Given the description of an element on the screen output the (x, y) to click on. 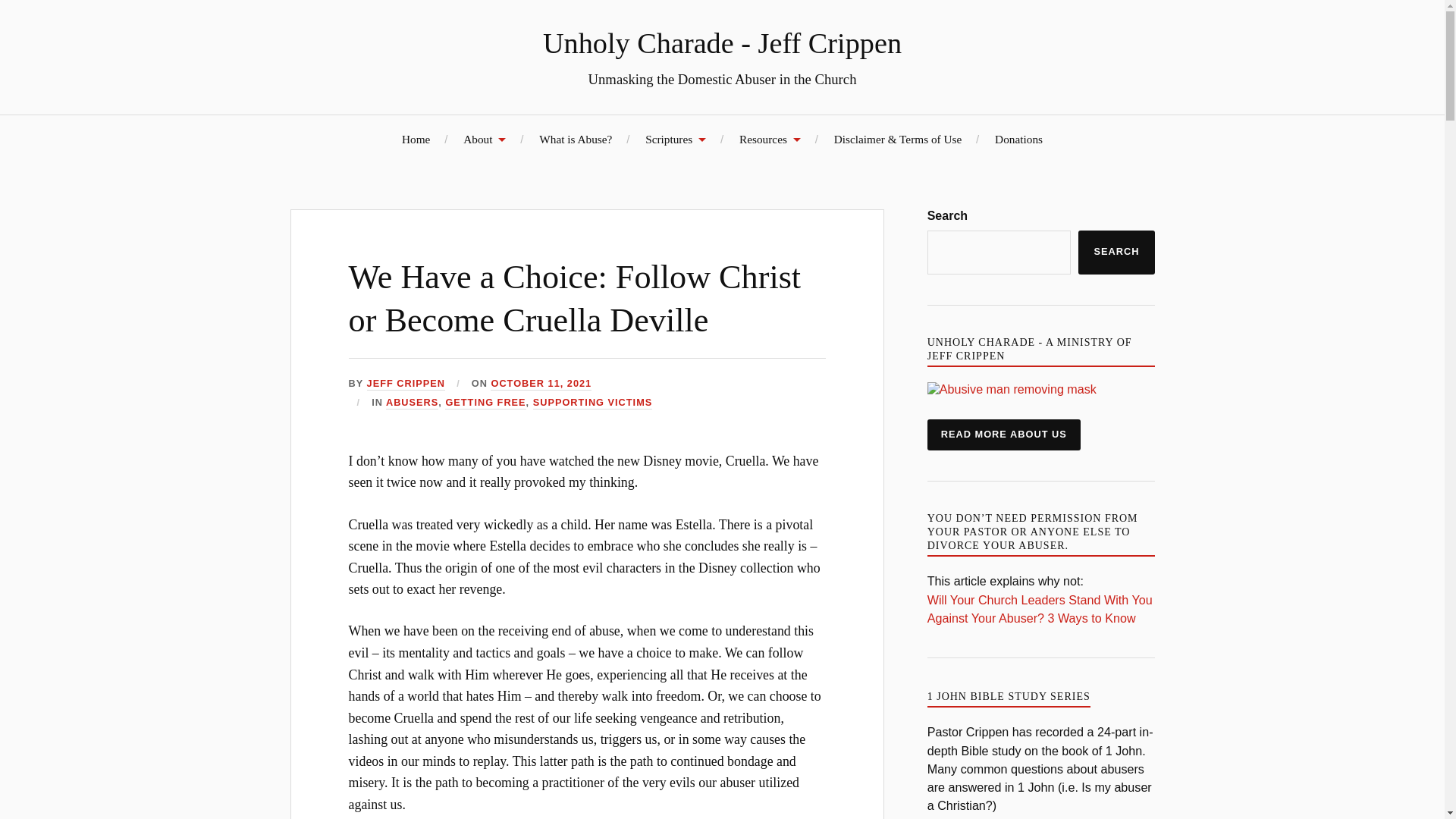
Posts by Jeff Crippen (405, 383)
GETTING FREE (485, 402)
Scriptures (675, 138)
Unholy Charade - Jeff Crippen (722, 42)
About (484, 138)
What is Abuse? (574, 138)
OCTOBER 11, 2021 (540, 383)
Resources (769, 138)
SUPPORTING VICTIMS (592, 402)
Donations (1018, 138)
